Given the description of an element on the screen output the (x, y) to click on. 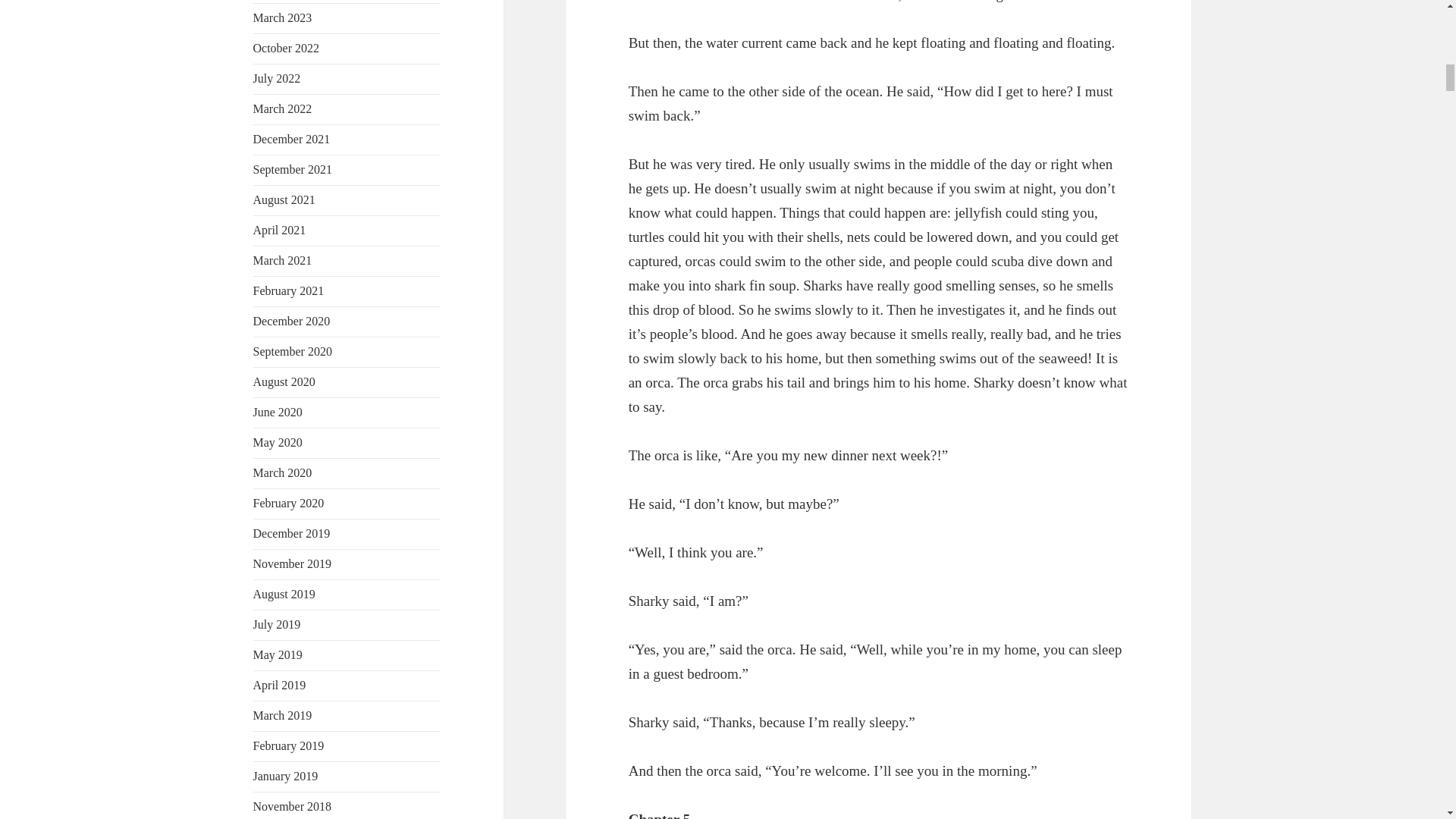
March 2021 (283, 259)
July 2022 (277, 78)
September 2020 (292, 350)
March 2022 (283, 108)
April 2021 (279, 229)
December 2020 (291, 320)
March 2023 (283, 17)
August 2020 (284, 381)
August 2021 (284, 199)
October 2022 (286, 47)
February 2021 (288, 290)
December 2021 (291, 138)
September 2021 (292, 169)
